Given the description of an element on the screen output the (x, y) to click on. 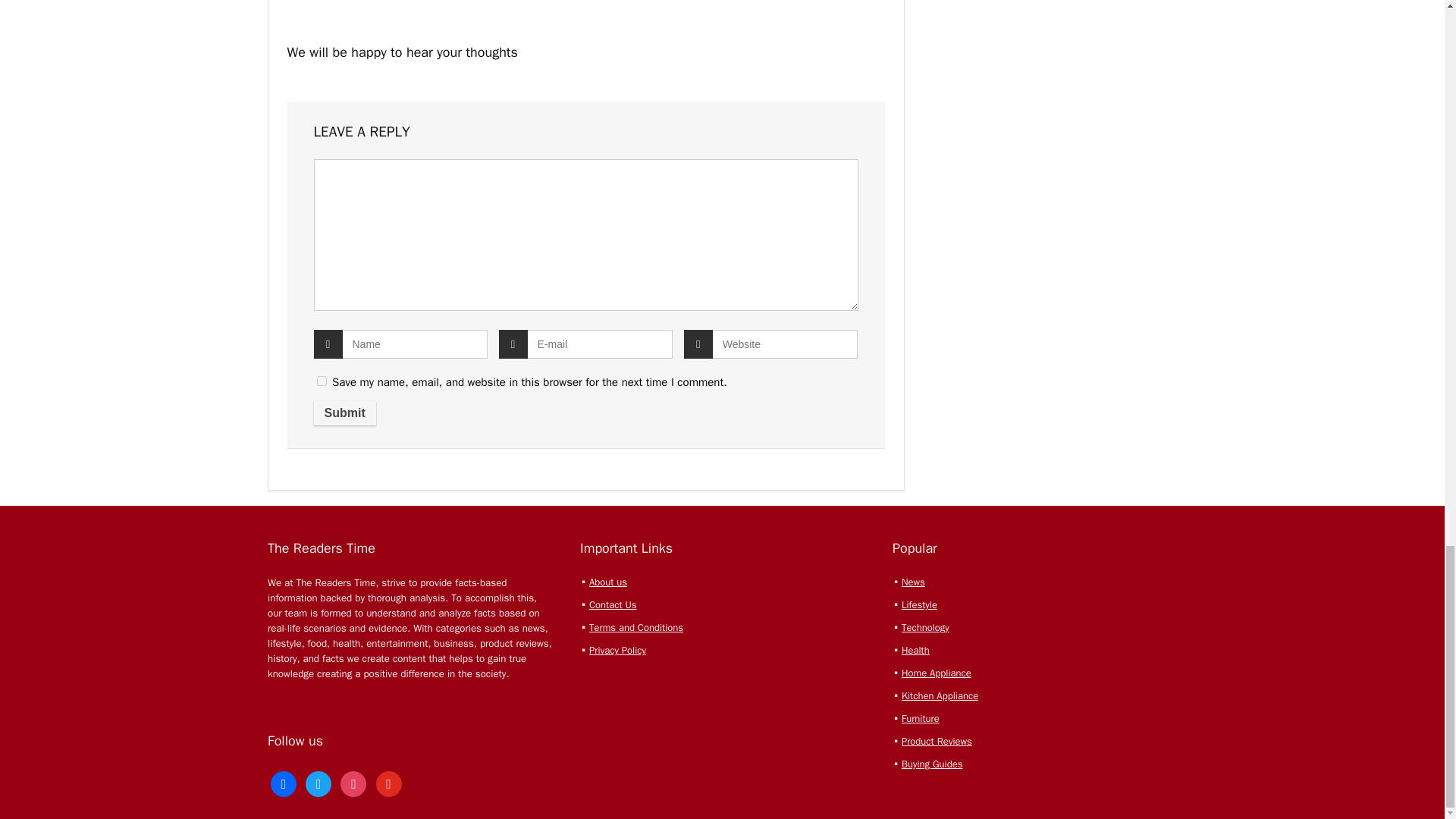
X (318, 783)
Instagram (353, 783)
yes (321, 380)
Facebook (283, 783)
Submit (344, 413)
